Given the description of an element on the screen output the (x, y) to click on. 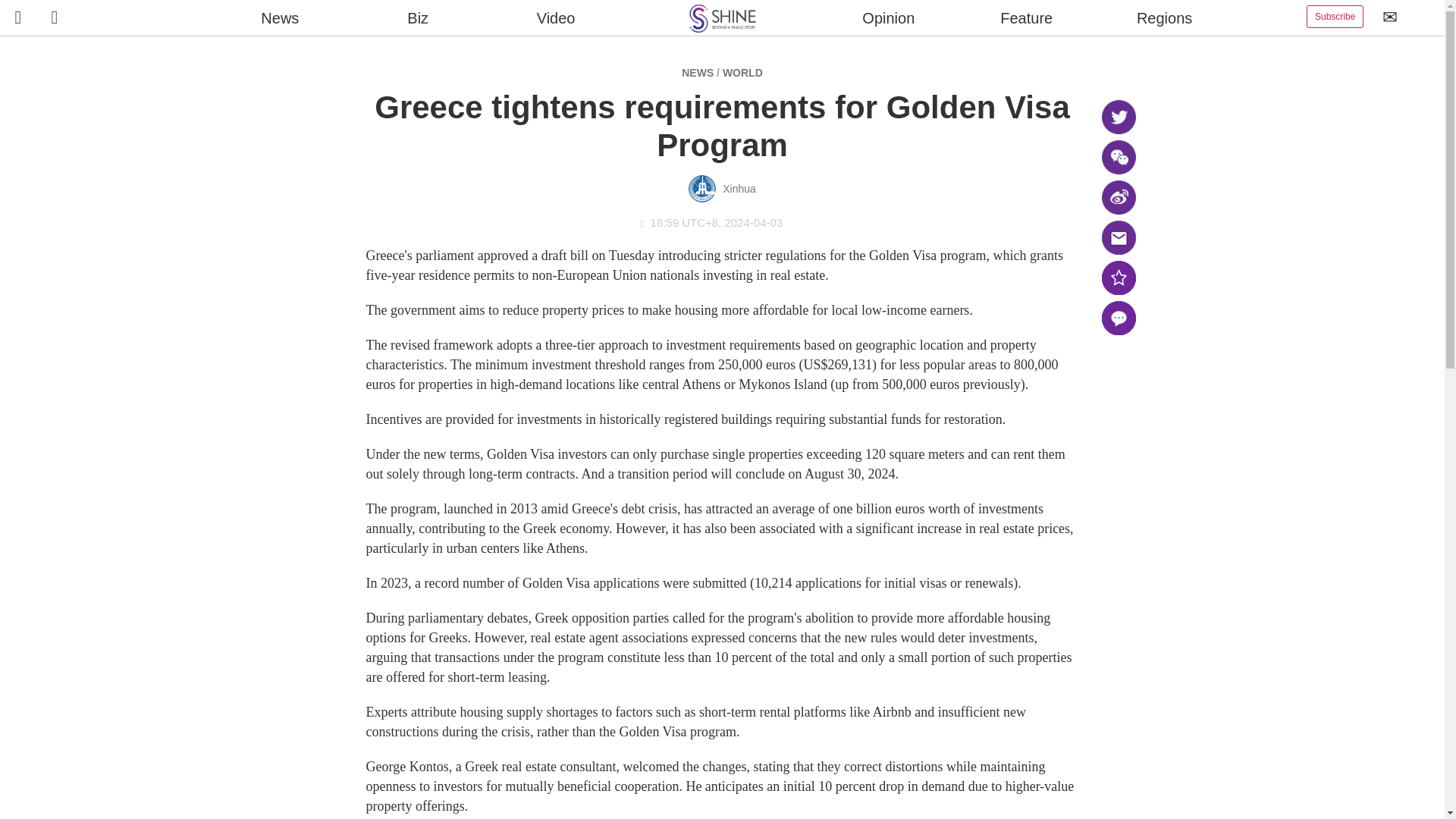
Add to favorites (1117, 277)
WORLD (742, 72)
Share your comments (1117, 317)
NEWS (697, 72)
Share via email (1117, 237)
